Given the description of an element on the screen output the (x, y) to click on. 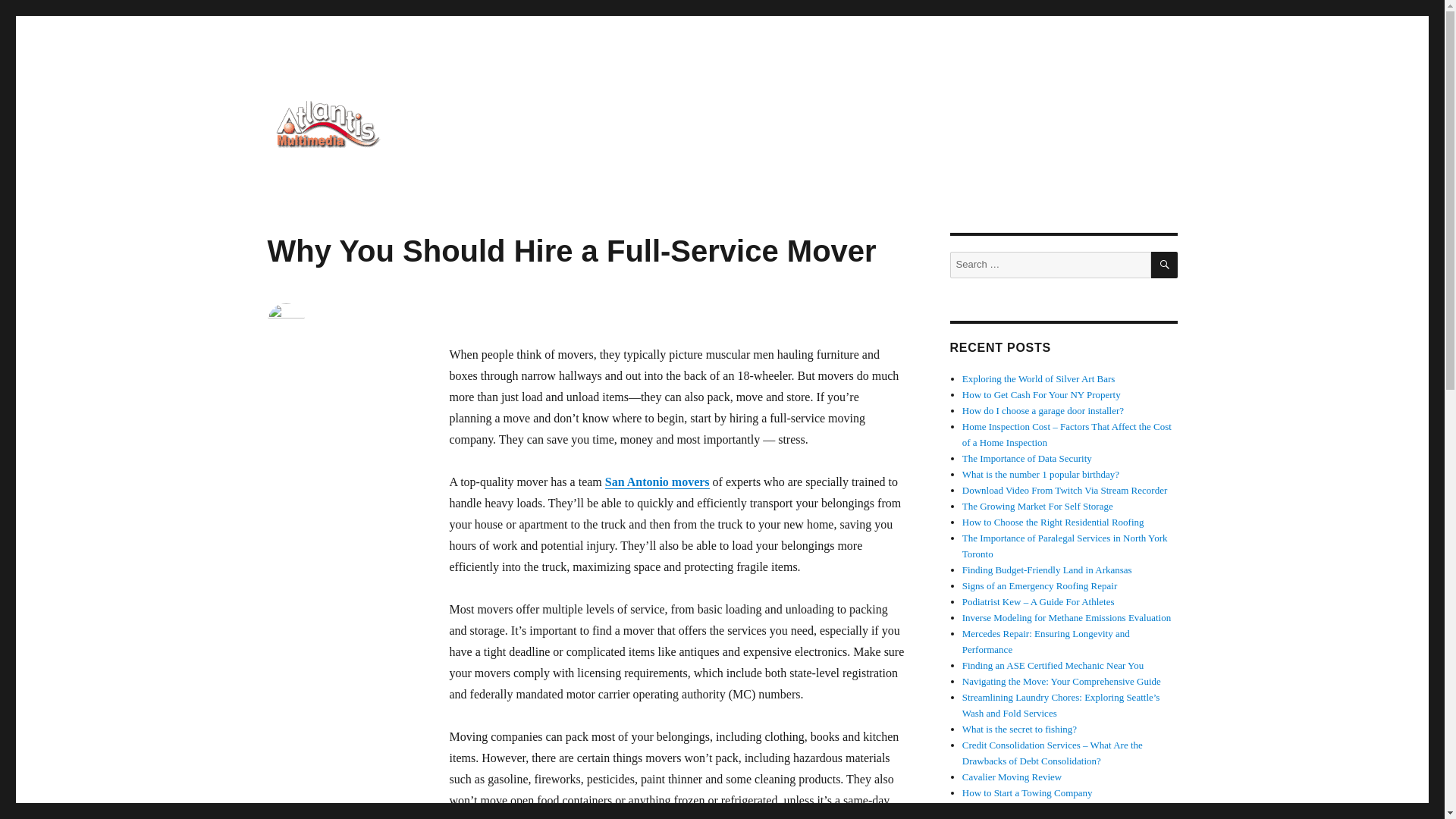
How to Choose the Right Residential Roofing (1053, 521)
The Growing Market For Self Storage (1037, 505)
Mercedes Repair: Ensuring Longevity and Performance (1045, 641)
What is the secret to fishing? (1019, 728)
The Importance of Data Security (1027, 458)
Exploring the World of Silver Art Bars (1038, 378)
Inverse Modeling for Methane Emissions Evaluation (1066, 617)
The Importance of Paralegal Services in North York Toronto (1064, 545)
How do I choose a garage door installer? (1043, 410)
SEARCH (1164, 264)
What is the number 1 popular birthday? (1040, 473)
Finding Budget-Friendly Land in Arkansas (1047, 569)
Finding an ASE Certified Mechanic Near You (1052, 665)
San Antonio movers (657, 481)
Download Video From Twitch Via Stream Recorder (1064, 490)
